Given the description of an element on the screen output the (x, y) to click on. 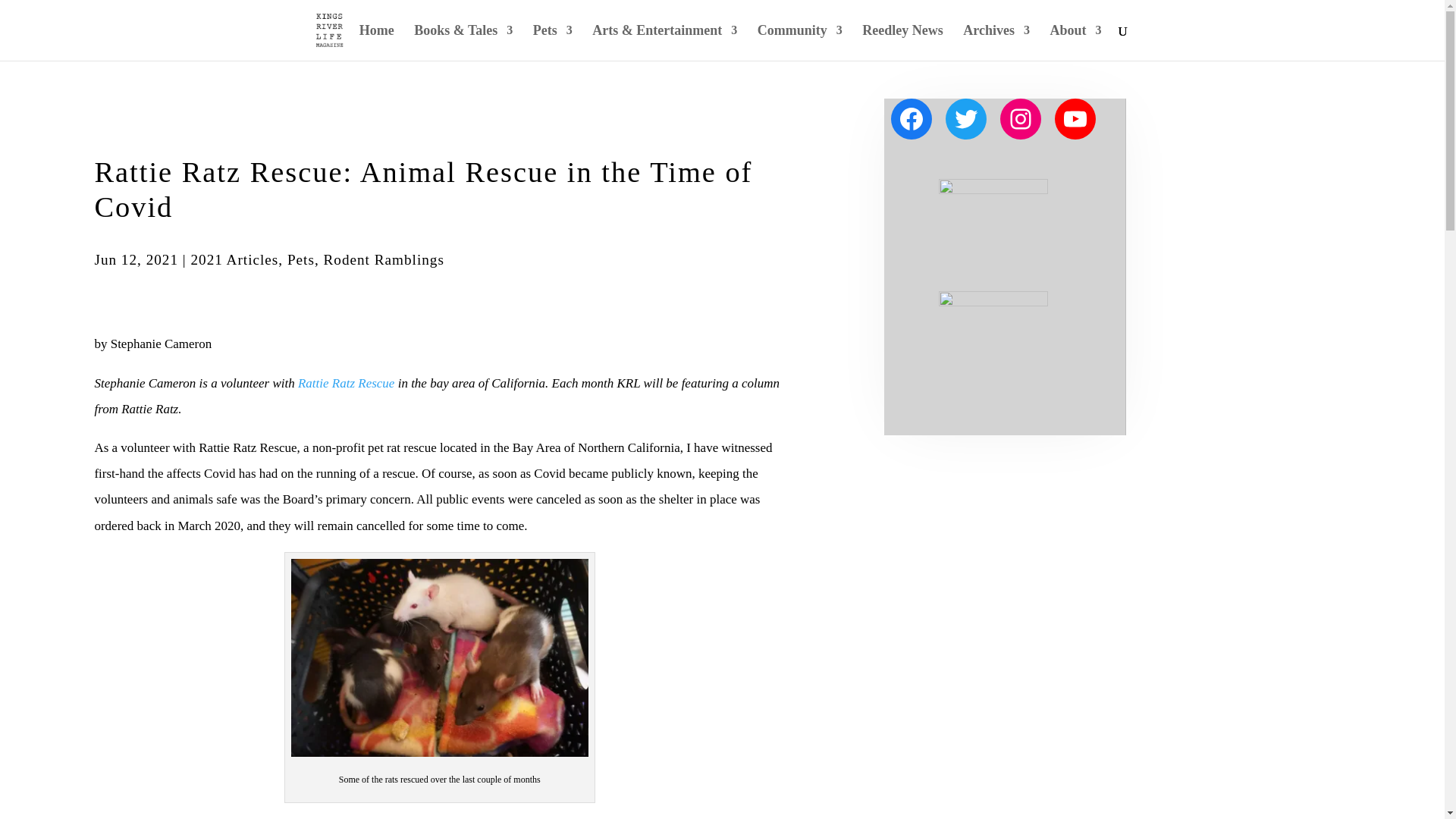
Opens to KRL artice about Rattie Ratz (346, 382)
Community (800, 42)
Home (376, 42)
Archives (995, 42)
Pets (552, 42)
Reedley News (901, 42)
